Given the description of an element on the screen output the (x, y) to click on. 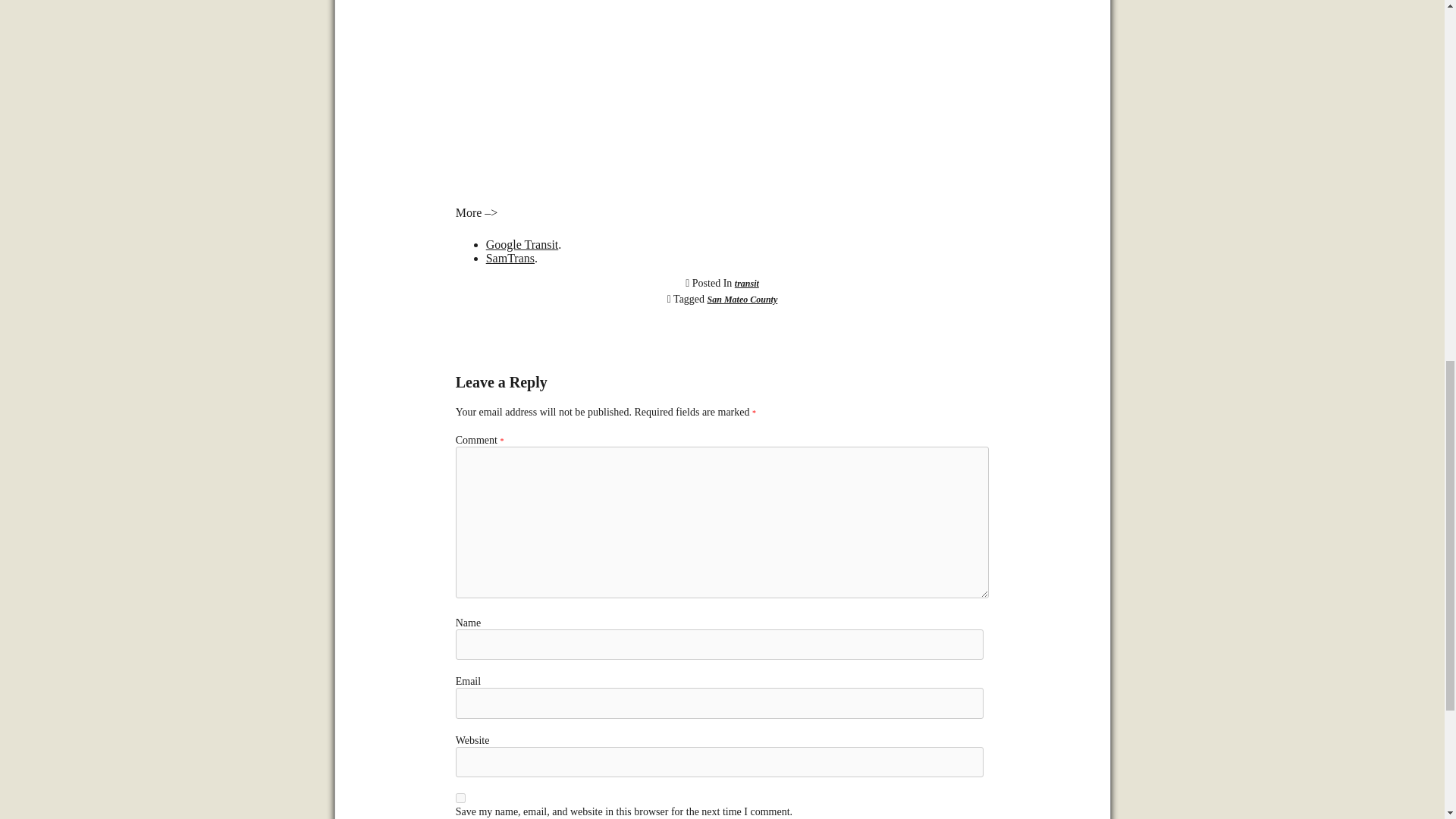
transit (746, 283)
yes (460, 798)
San Mateo County (742, 299)
Google Transit (522, 244)
SamTrans (510, 257)
